Given the description of an element on the screen output the (x, y) to click on. 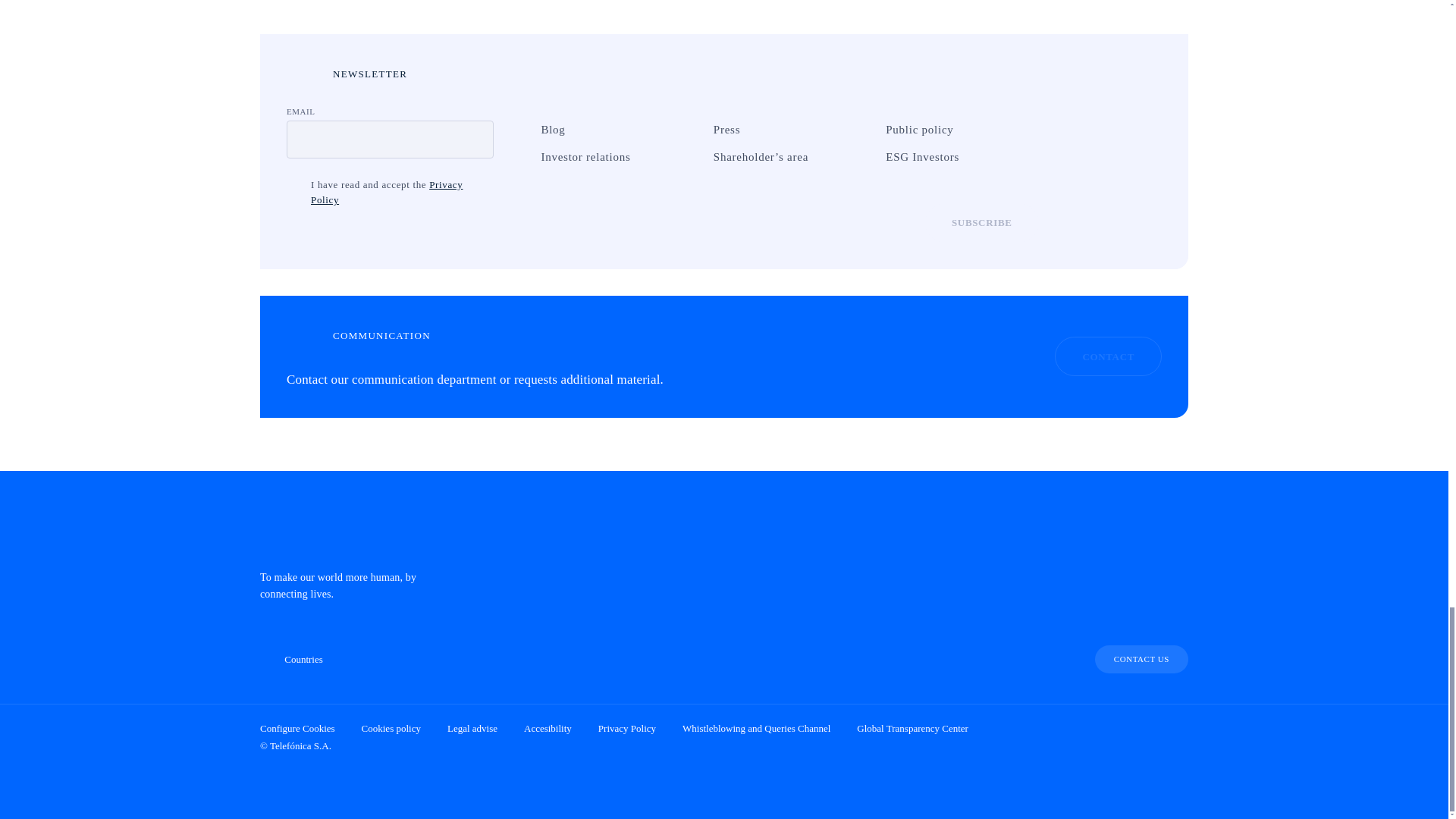
Investor relations (523, 156)
Blog (523, 129)
on (293, 184)
Public policy (868, 129)
ESG Investors (868, 156)
Shareholder's area (696, 156)
Press (696, 129)
